Given the description of an element on the screen output the (x, y) to click on. 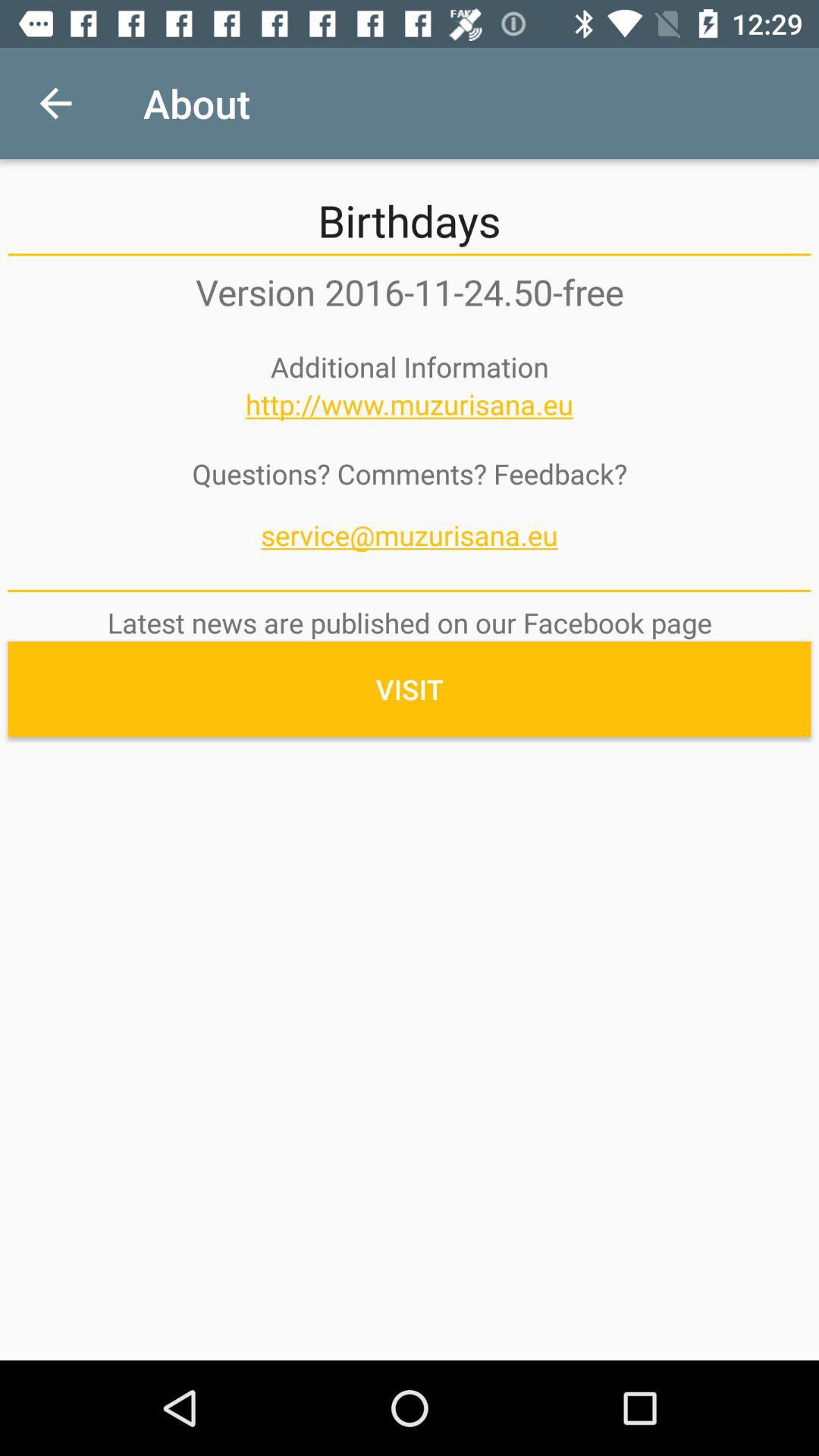
choose item to the left of about item (55, 103)
